Given the description of an element on the screen output the (x, y) to click on. 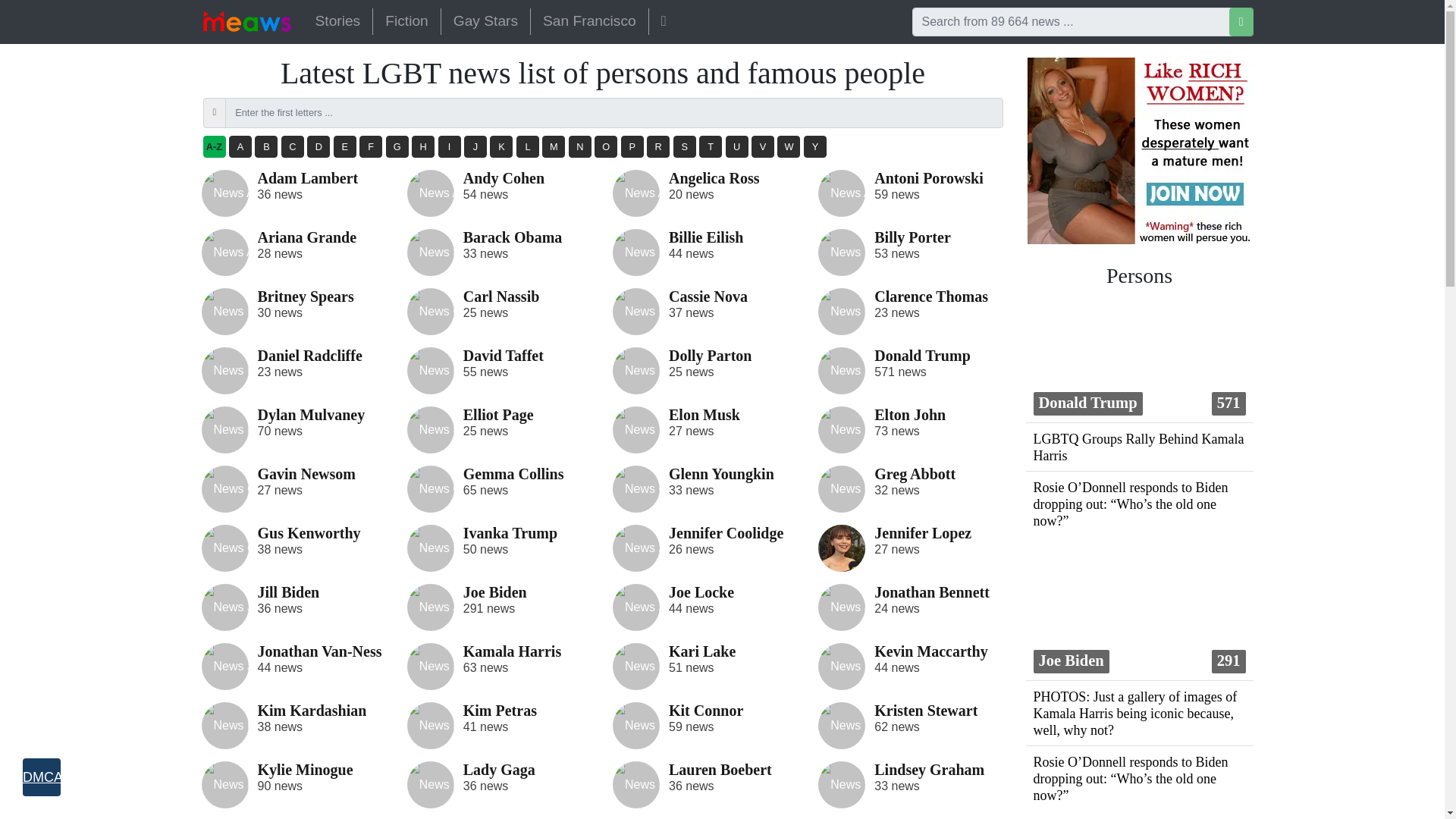
San Francisco (589, 21)
Gay Stars (485, 21)
San Francisco (589, 21)
Stories (337, 21)
Fiction (406, 21)
Stories (337, 21)
Fiction (406, 21)
Gay Stars (485, 21)
